Given the description of an element on the screen output the (x, y) to click on. 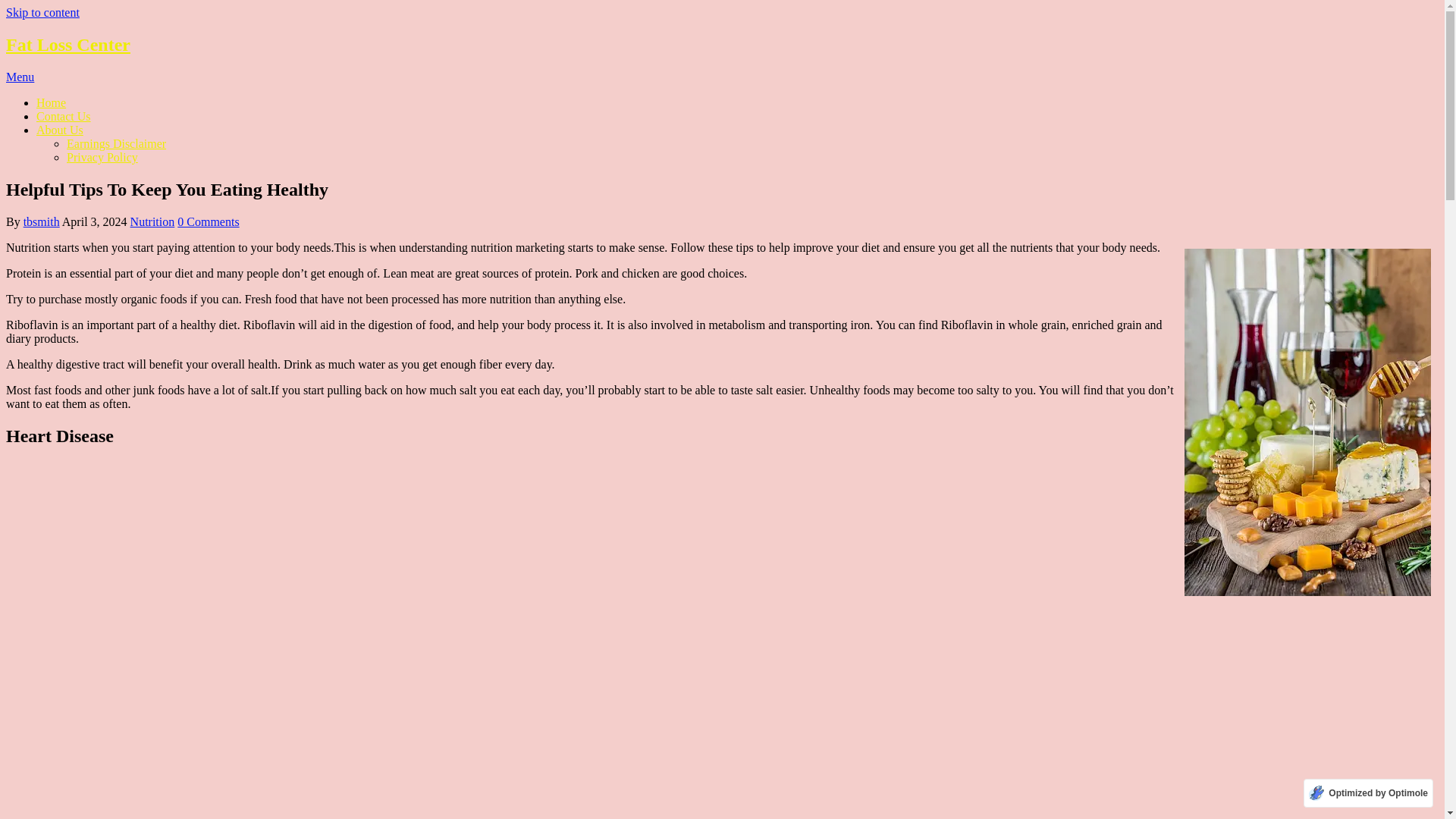
Home (50, 102)
Menu (19, 76)
About Us (59, 129)
Privacy Policy (102, 156)
Contact Us (63, 115)
Skip to content (42, 11)
tbsmith (41, 221)
Posts by tbsmith (41, 221)
Nutrition (152, 221)
Fat Loss Center (68, 44)
Earnings Disclaimer (115, 143)
0 Comments (207, 221)
